Given the description of an element on the screen output the (x, y) to click on. 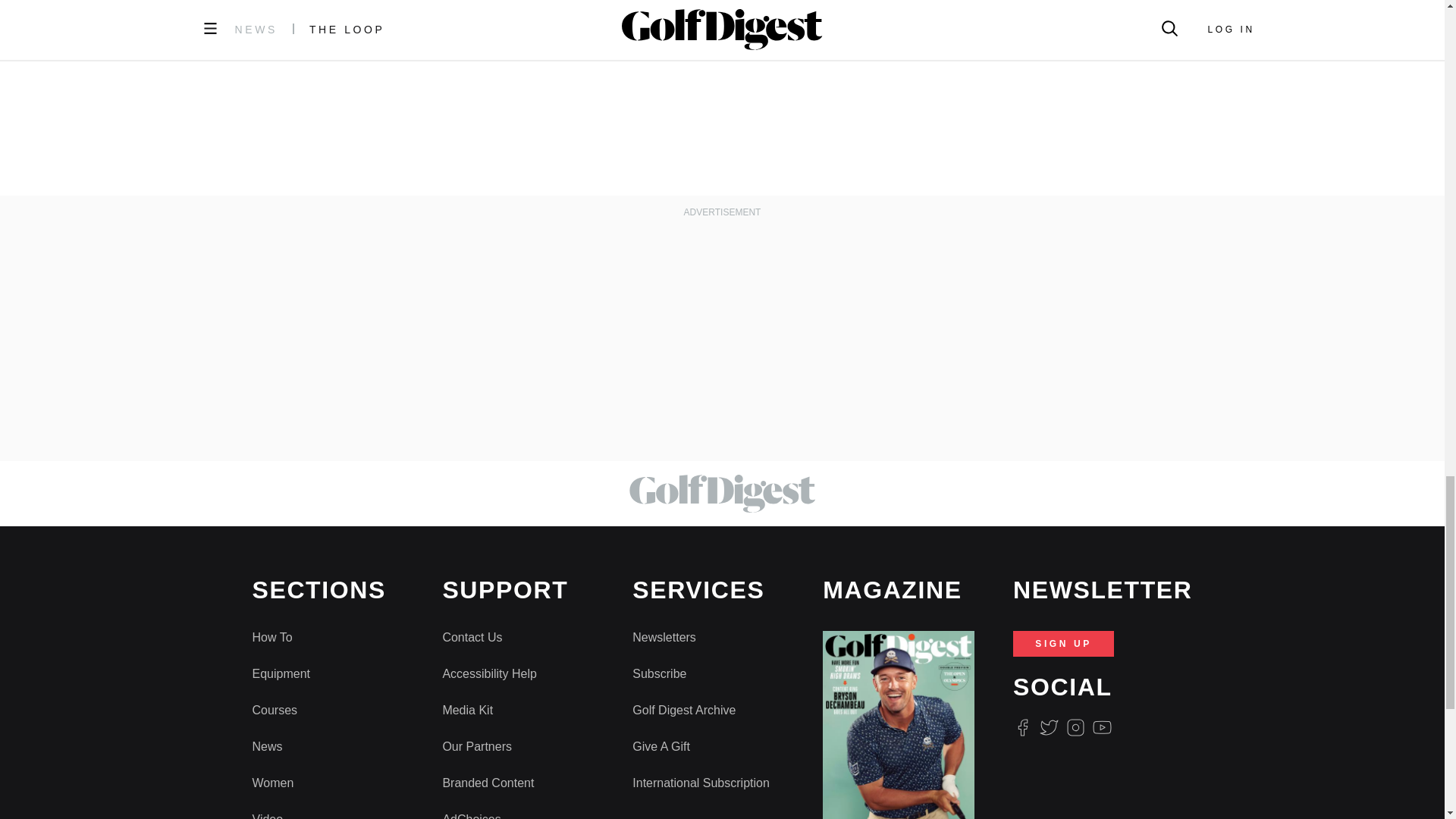
Facebook Logo (1022, 727)
Instagram Logo (1074, 727)
Twitter Logo (1048, 727)
Youtube Icon (1102, 727)
